Given the description of an element on the screen output the (x, y) to click on. 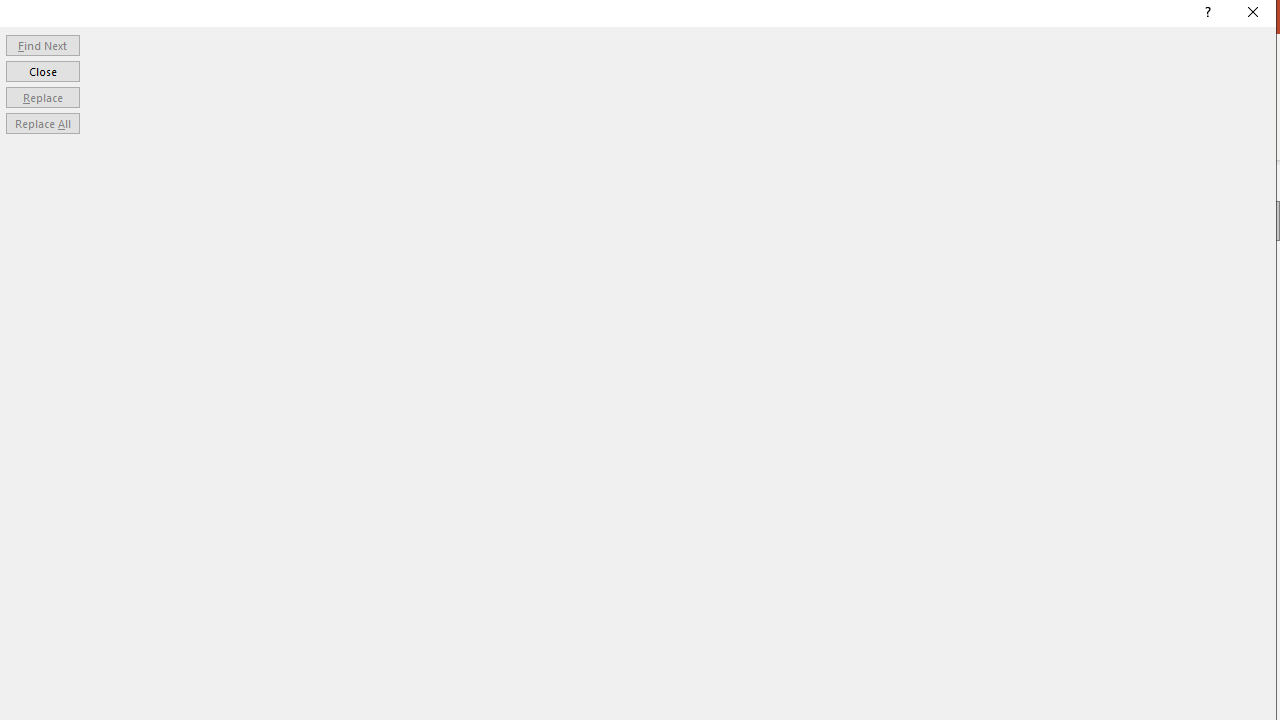
Replace All (42, 123)
Find Next (42, 44)
Replace (42, 96)
